Given the description of an element on the screen output the (x, y) to click on. 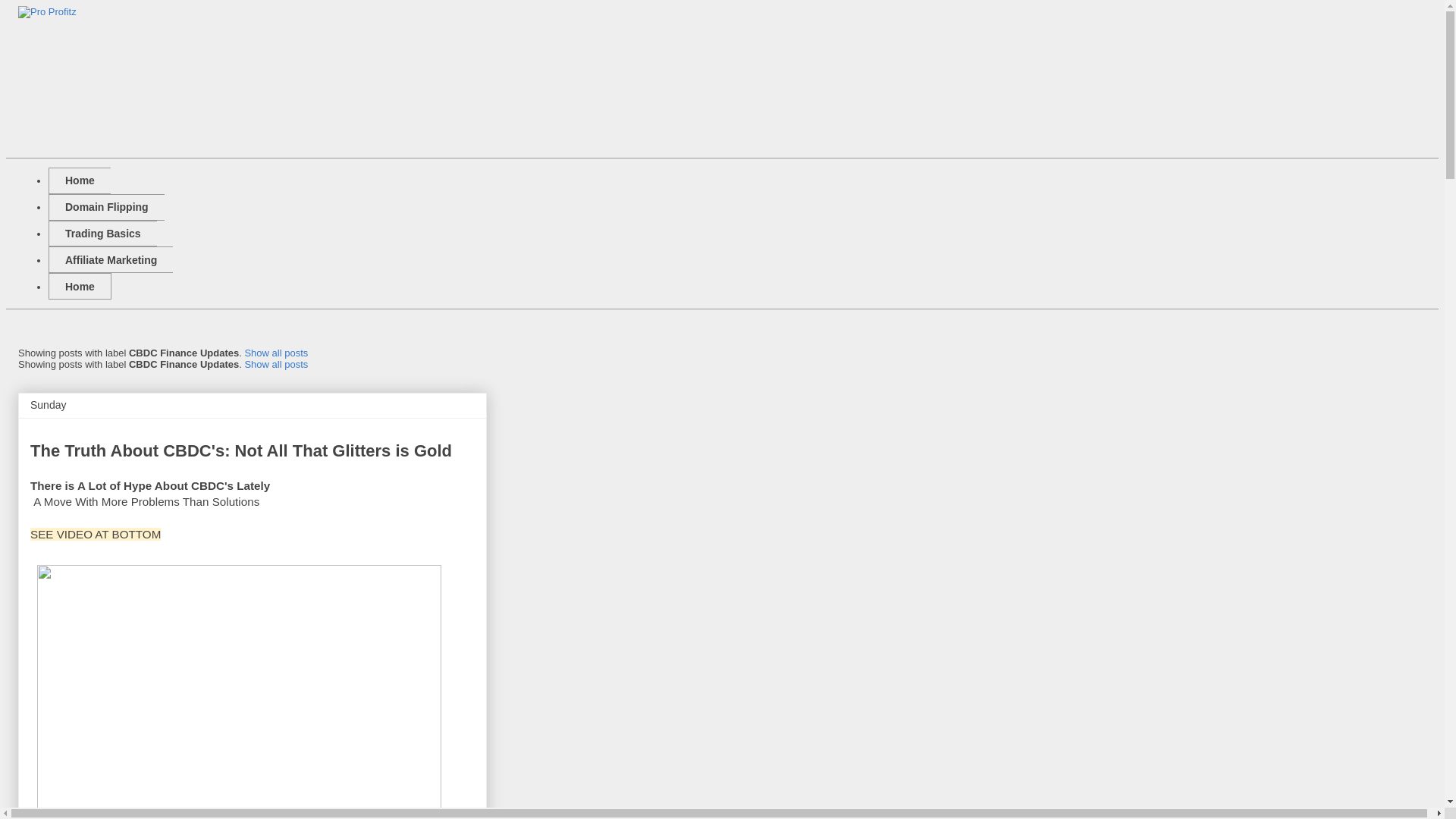
Affiliate Marketing (110, 259)
Home (79, 180)
The Truth About CBDC's: Not All That Glitters is Gold (240, 450)
Home (80, 285)
Trading Basics (102, 233)
Domain Flipping (106, 207)
Show all posts (275, 352)
Show all posts (275, 364)
